Given the description of an element on the screen output the (x, y) to click on. 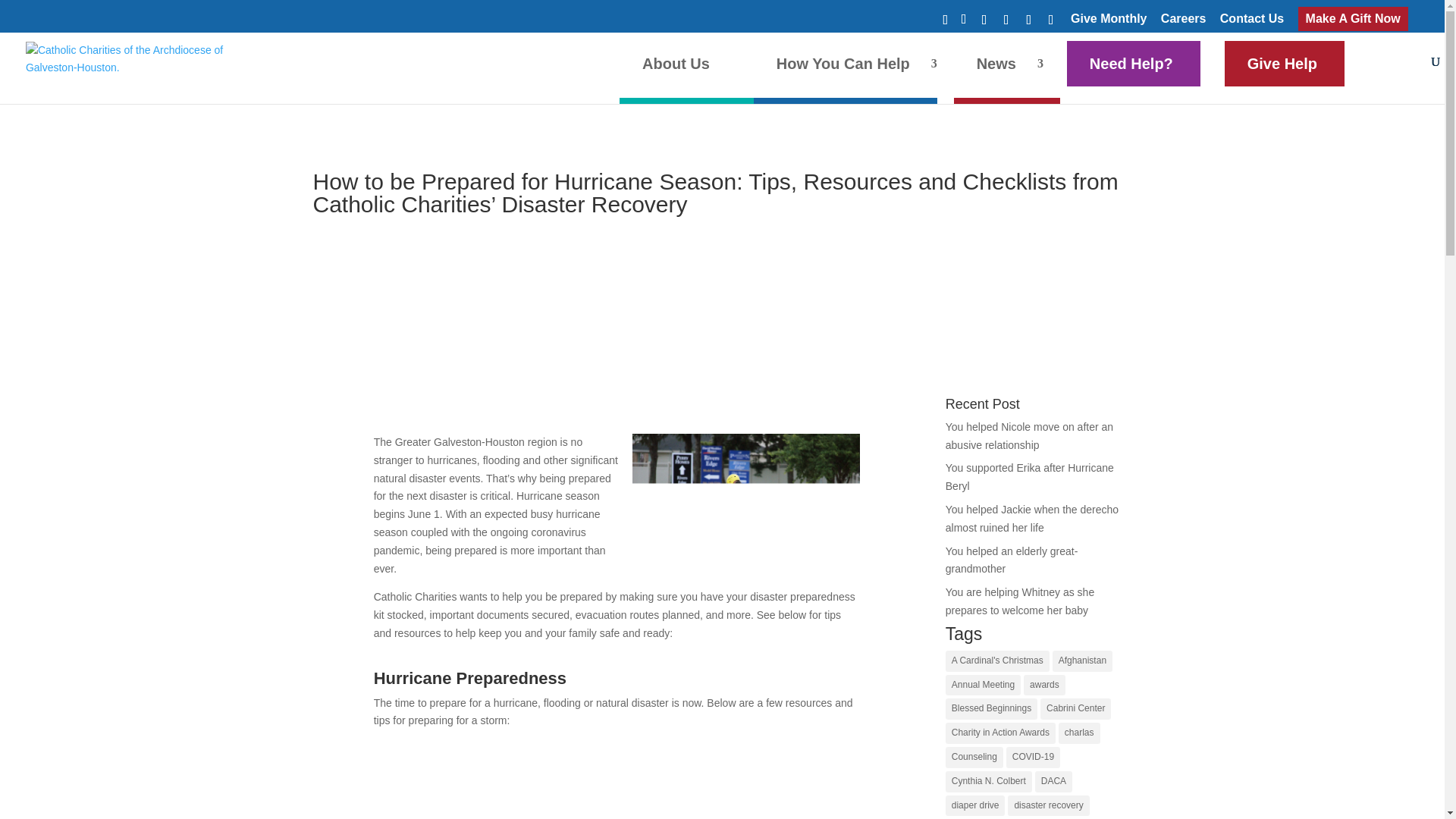
News (998, 59)
Make A Gift Now (1352, 18)
Contact Us (1252, 23)
How You Can Help (845, 63)
About Us (678, 59)
Careers (1183, 23)
Give Monthly (1108, 23)
